Given the description of an element on the screen output the (x, y) to click on. 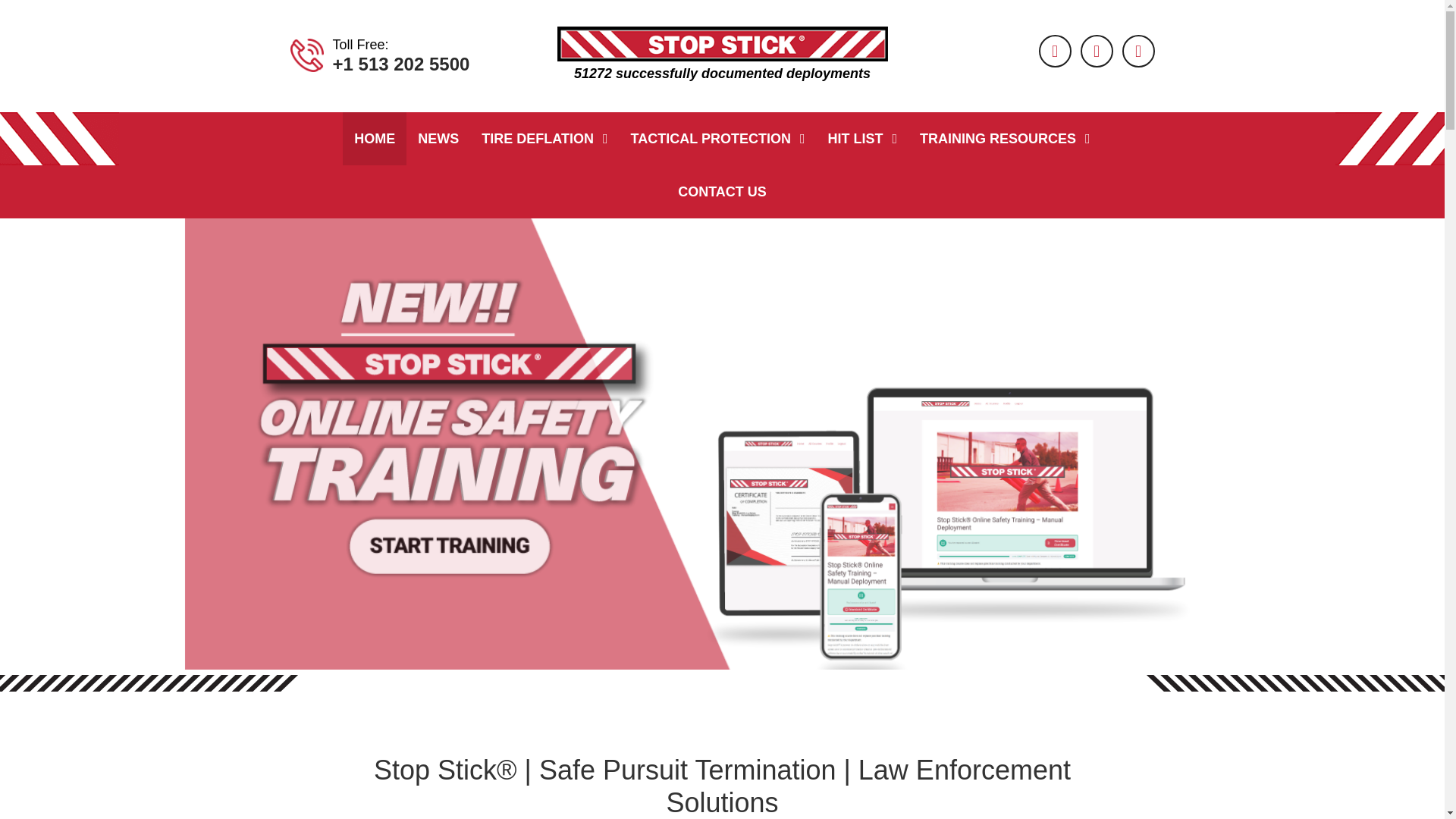
HOME (374, 138)
NEWS (438, 138)
51272 successfully documented deployments (721, 56)
